Given the description of an element on the screen output the (x, y) to click on. 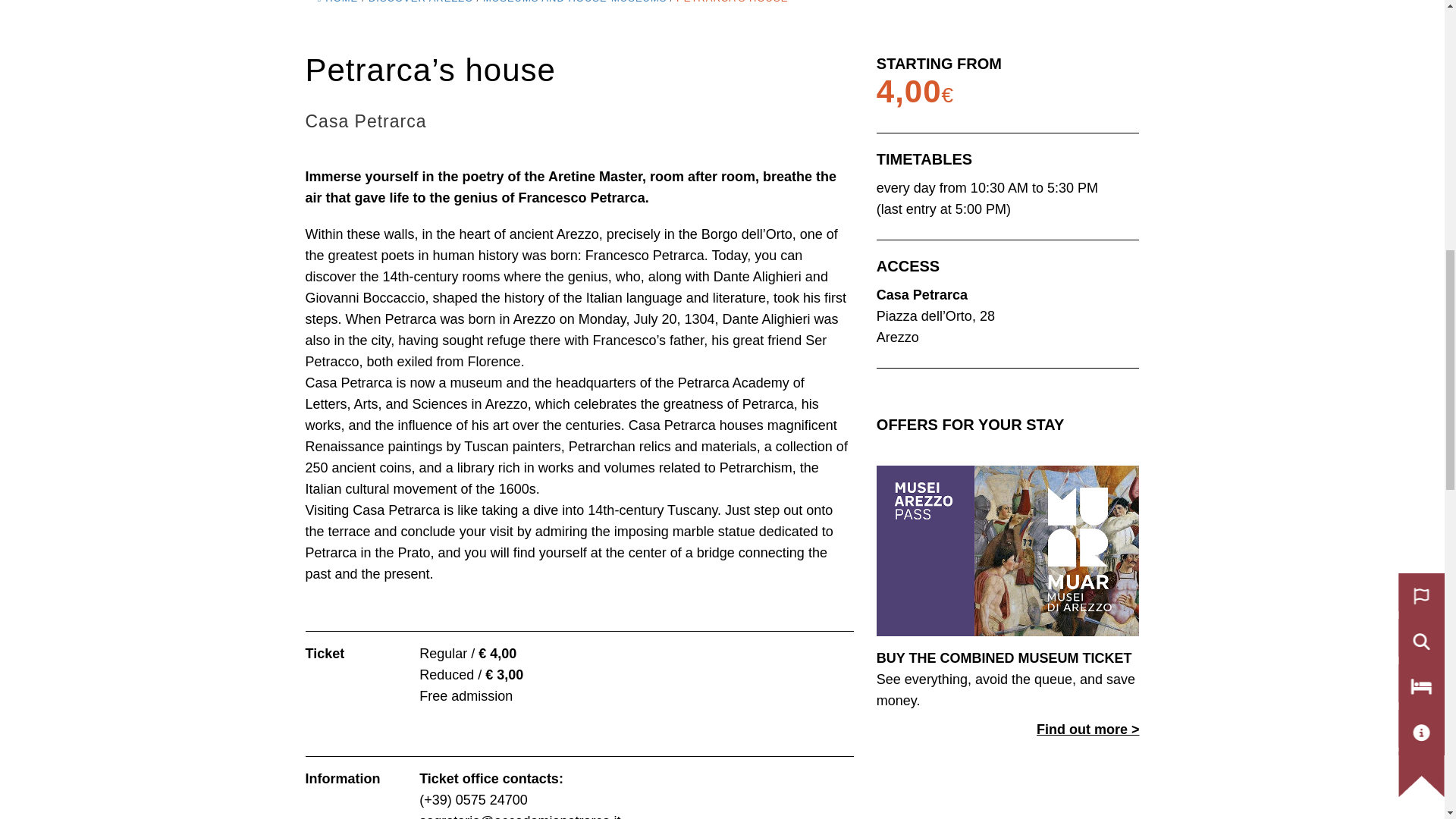
HOME (337, 2)
MUSEUMS AND HOUSE-MUSEUMS (574, 2)
Museums and House-Museums (574, 2)
DISCOVER AREZZO (421, 2)
Discover Arezzo (421, 2)
